Given the description of an element on the screen output the (x, y) to click on. 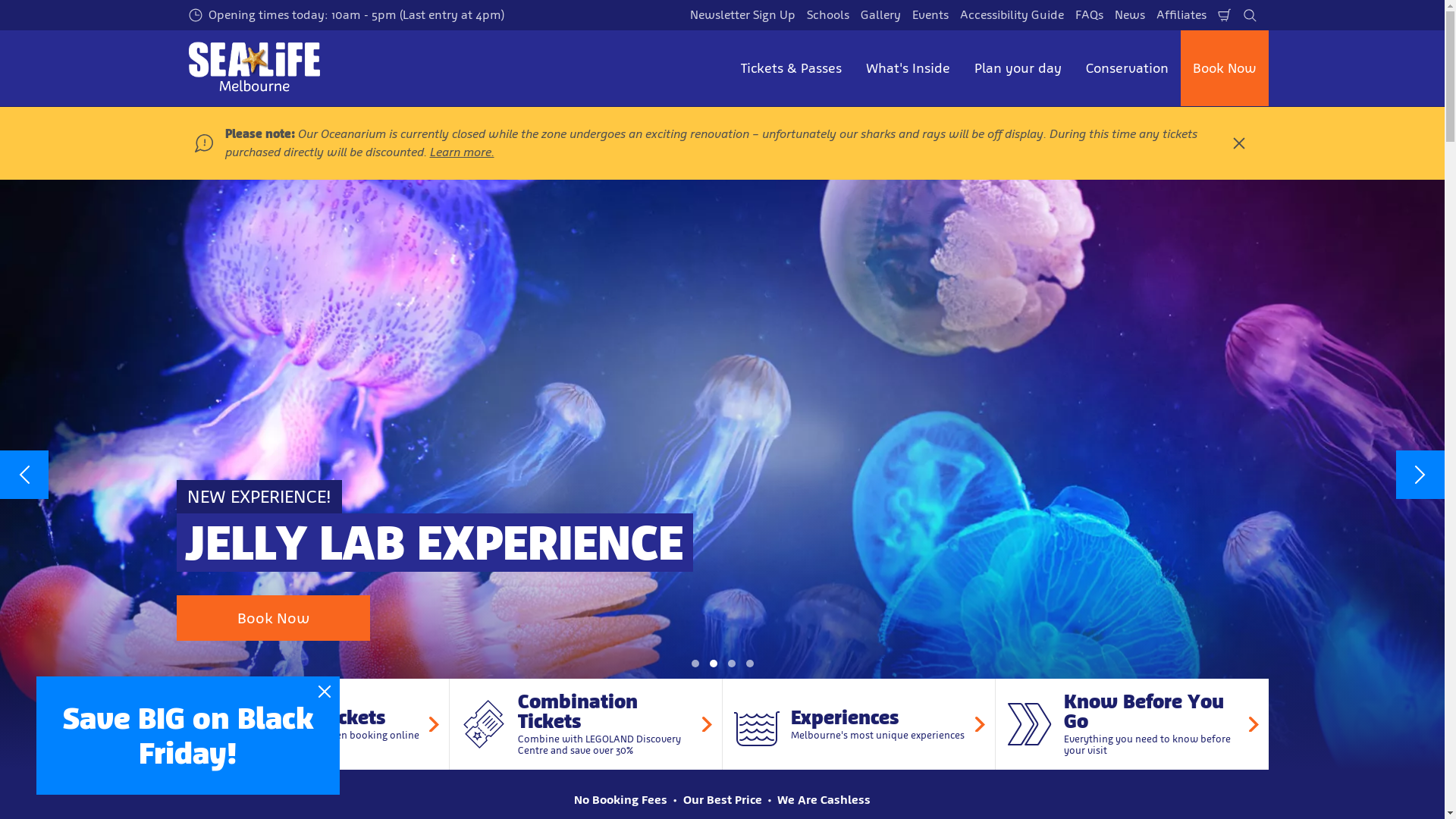
Plan your day Element type: text (1017, 68)
Accessibility Guide Element type: text (1010, 15)
Shopping Cart Element type: text (1223, 14)
Close Element type: text (324, 691)
FAQs Element type: text (1088, 15)
Opening times today: 10am - 5pm (Last entry at 4pm) Element type: text (346, 14)
Go to slide 2 Element type: text (712, 663)
Book Now Element type: text (272, 617)
Go to slide 4 Element type: text (749, 663)
Events Element type: text (930, 15)
Learn more. Element type: text (461, 151)
Close Element type: text (1237, 142)
Save BIG on Black Friday! Element type: text (187, 735)
News Element type: text (1129, 15)
Go to slide 1 Element type: text (694, 663)
Search Element type: text (1249, 14)
Schools Element type: text (827, 15)
Popular Tickets
Guarantee entry when booking online Element type: text (311, 723)
Conservation Element type: text (1126, 68)
Gallery Element type: text (880, 15)
Affiliates Element type: text (1181, 15)
Book Now Element type: text (1223, 68)
Tickets & Passes Element type: text (790, 68)
Go to slide 3 Element type: text (730, 663)
Experiences
Melbourne's most unique experiences Element type: text (858, 723)
Newsletter Sign Up Element type: text (741, 15)
What's Inside Element type: text (907, 68)
